Given the description of an element on the screen output the (x, y) to click on. 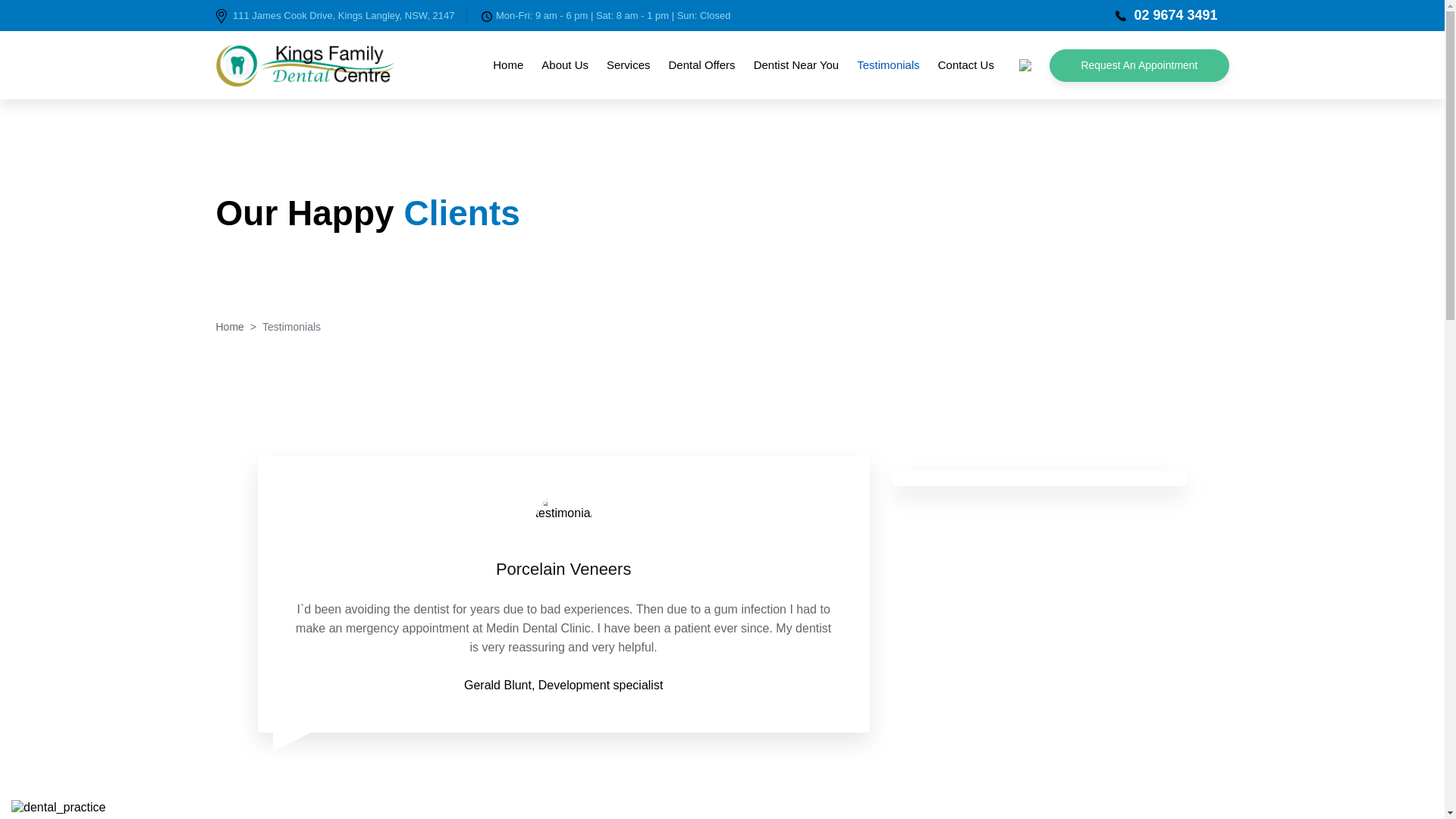
Services Element type: text (628, 65)
Dentist Near You Element type: text (796, 65)
02 9674 3491 Element type: text (1166, 14)
About Us Element type: text (564, 65)
Home Element type: text (507, 65)
Contact Us Element type: text (965, 65)
Dental Offers Element type: text (701, 65)
Mon-Fri: 9 am - 6 pm | Sat: 8 am - 1 pm | Sun: Closed Element type: text (600, 15)
111 James Cook Drive,
Kings Langley, NSW, 2147 Element type: text (340, 15)
Search Element type: hover (1024, 64)
Home Element type: text (229, 326)
Testimonials Element type: text (887, 65)
Request An Appointment Element type: text (1138, 64)
Dental Practice Accredited Element type: hover (58, 807)
Kings Family Dental Centre Element type: hover (304, 64)
